Given the description of an element on the screen output the (x, y) to click on. 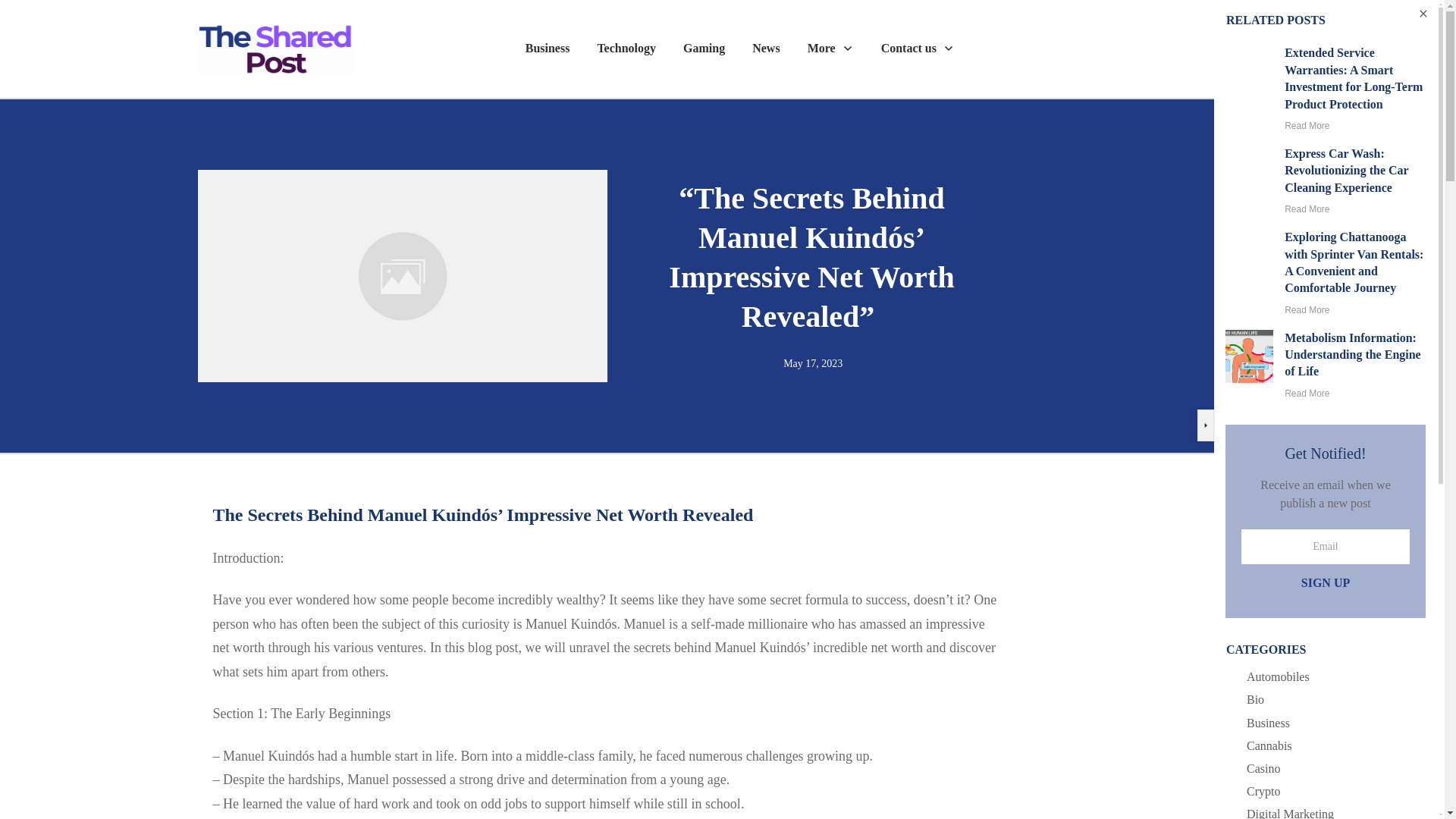
Contact us (917, 48)
News (765, 48)
More (830, 48)
Gaming (703, 48)
Technology (626, 48)
Business (547, 48)
